Given the description of an element on the screen output the (x, y) to click on. 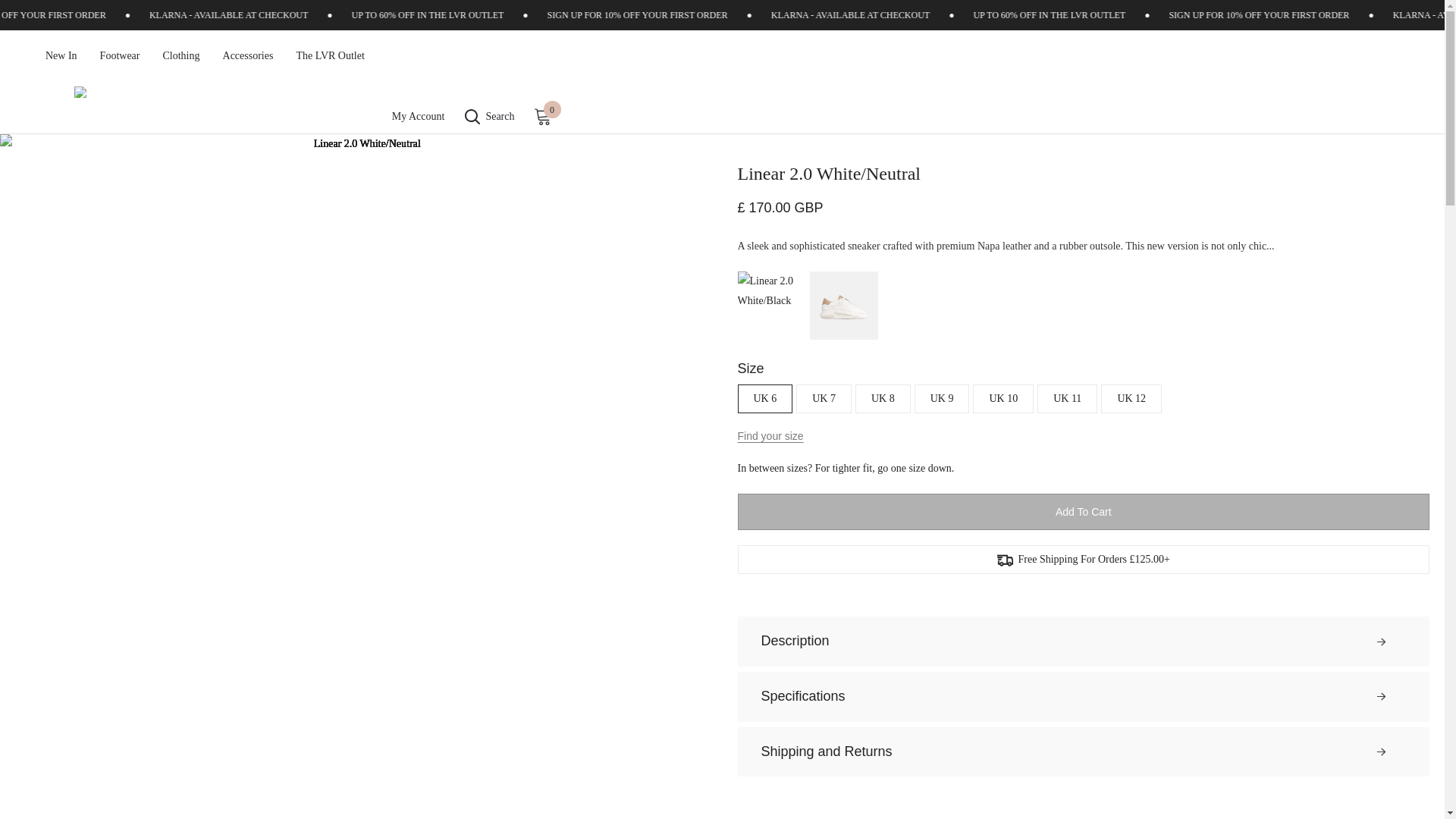
KLARNA - AVAILABLE AT CHECKOUT (310, 14)
Footwear (119, 61)
New In (60, 61)
KLARNA - AVAILABLE AT CHECKOUT (930, 14)
